Given the description of an element on the screen output the (x, y) to click on. 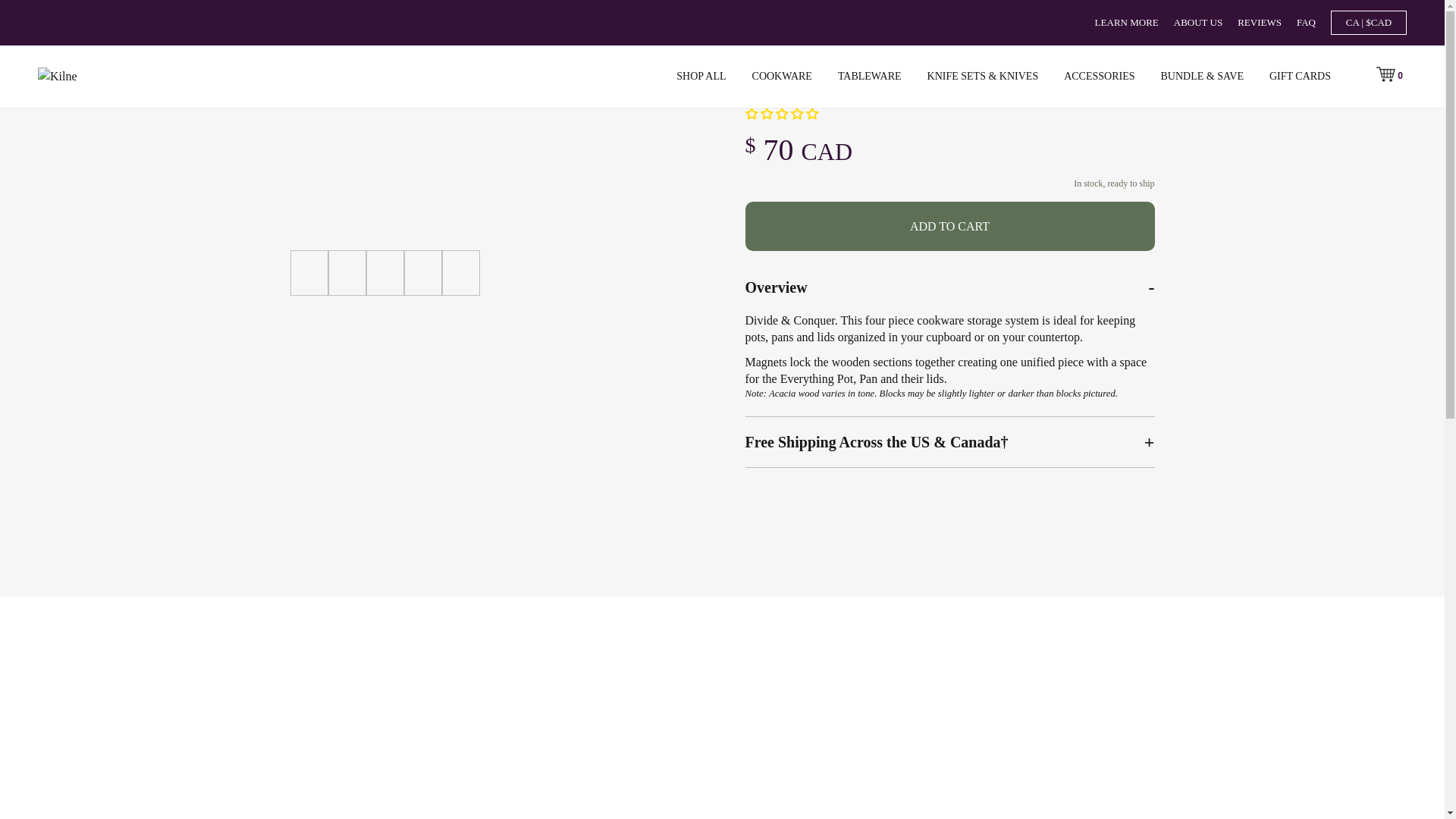
Add to cart (949, 225)
ABOUT US (1198, 21)
LEARN MORE (1126, 21)
FAQ (1306, 21)
Page 1 (949, 370)
TABLEWARE (869, 76)
REVIEWS (1259, 21)
COOKWARE (782, 76)
